Given the description of an element on the screen output the (x, y) to click on. 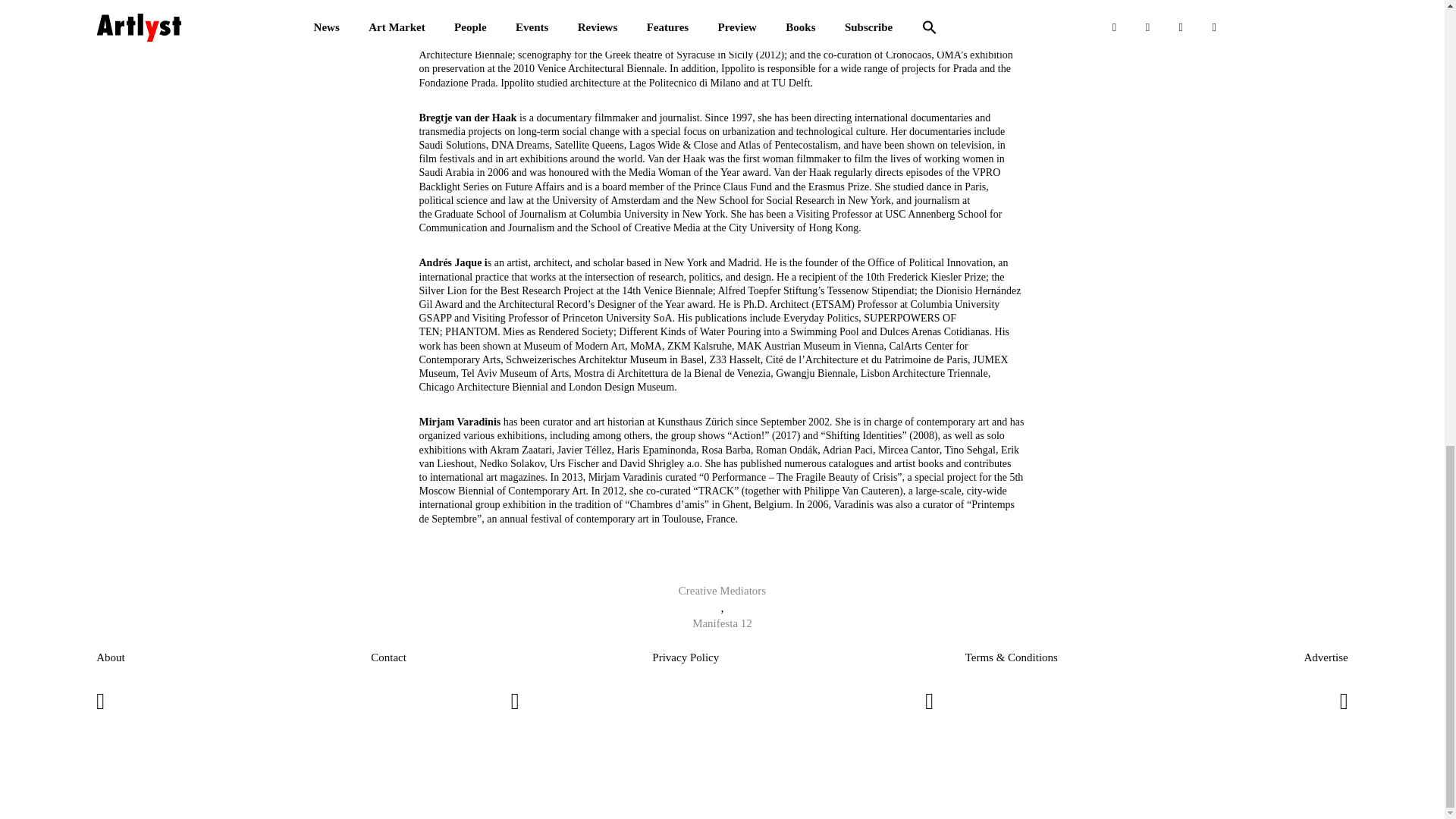
Manifesta 12 (722, 624)
Contact (388, 658)
About (110, 658)
Privacy Policy (685, 658)
Creative Mediators (721, 592)
Advertise (1325, 658)
